Given the description of an element on the screen output the (x, y) to click on. 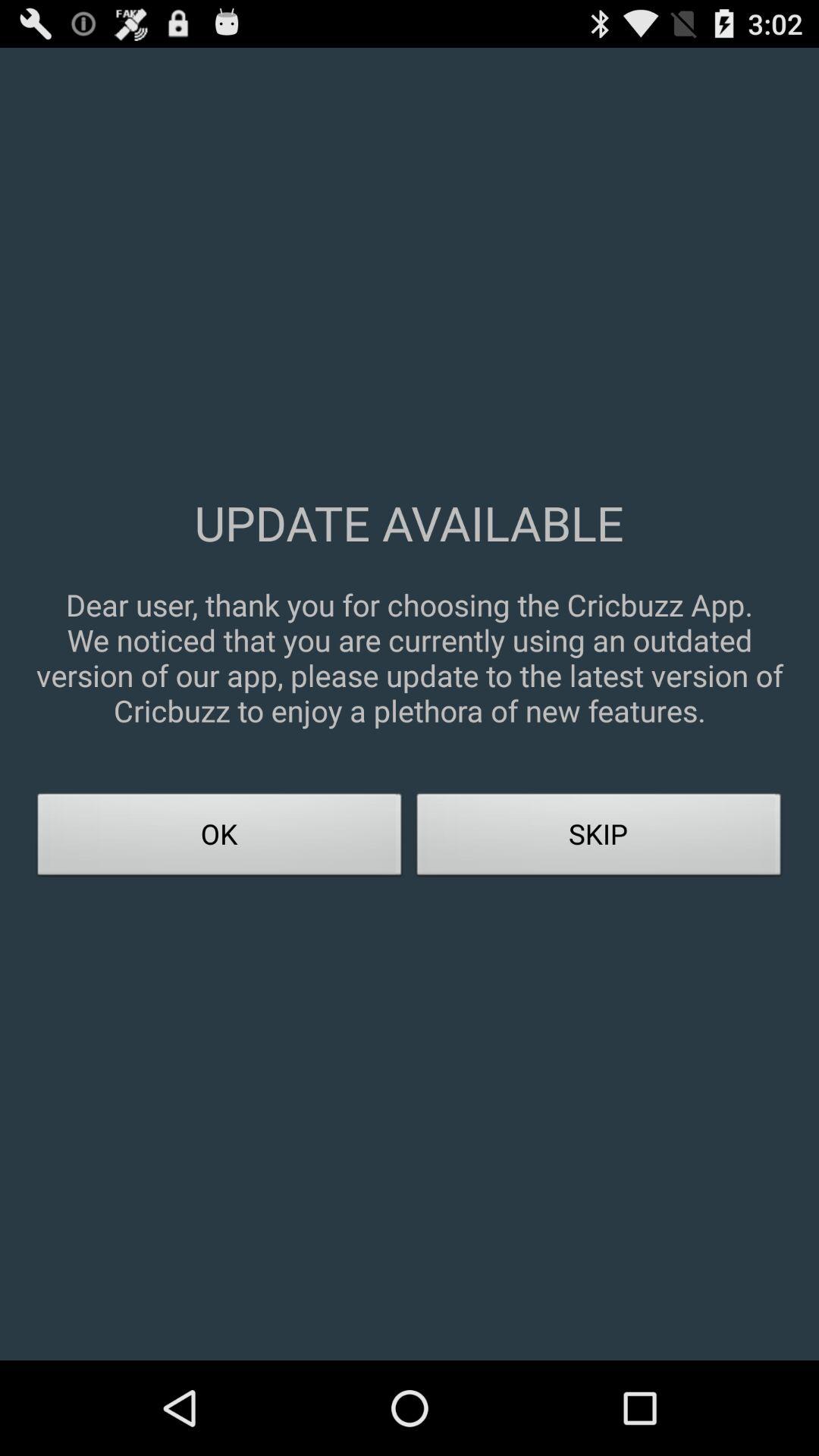
turn on the item to the left of the skip icon (219, 838)
